Given the description of an element on the screen output the (x, y) to click on. 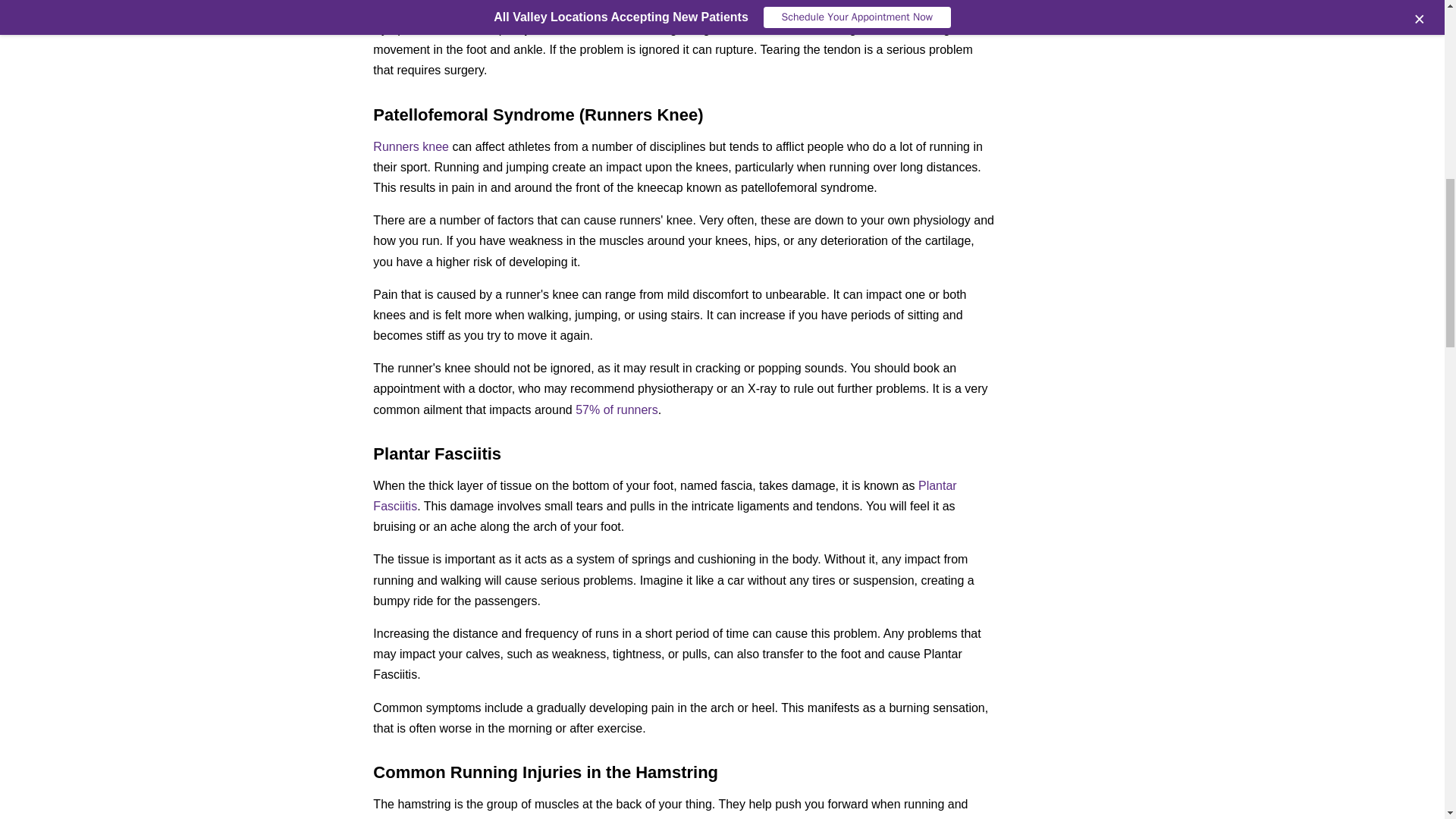
Plantar Fasciitis (664, 495)
Runners knee (410, 146)
